Given the description of an element on the screen output the (x, y) to click on. 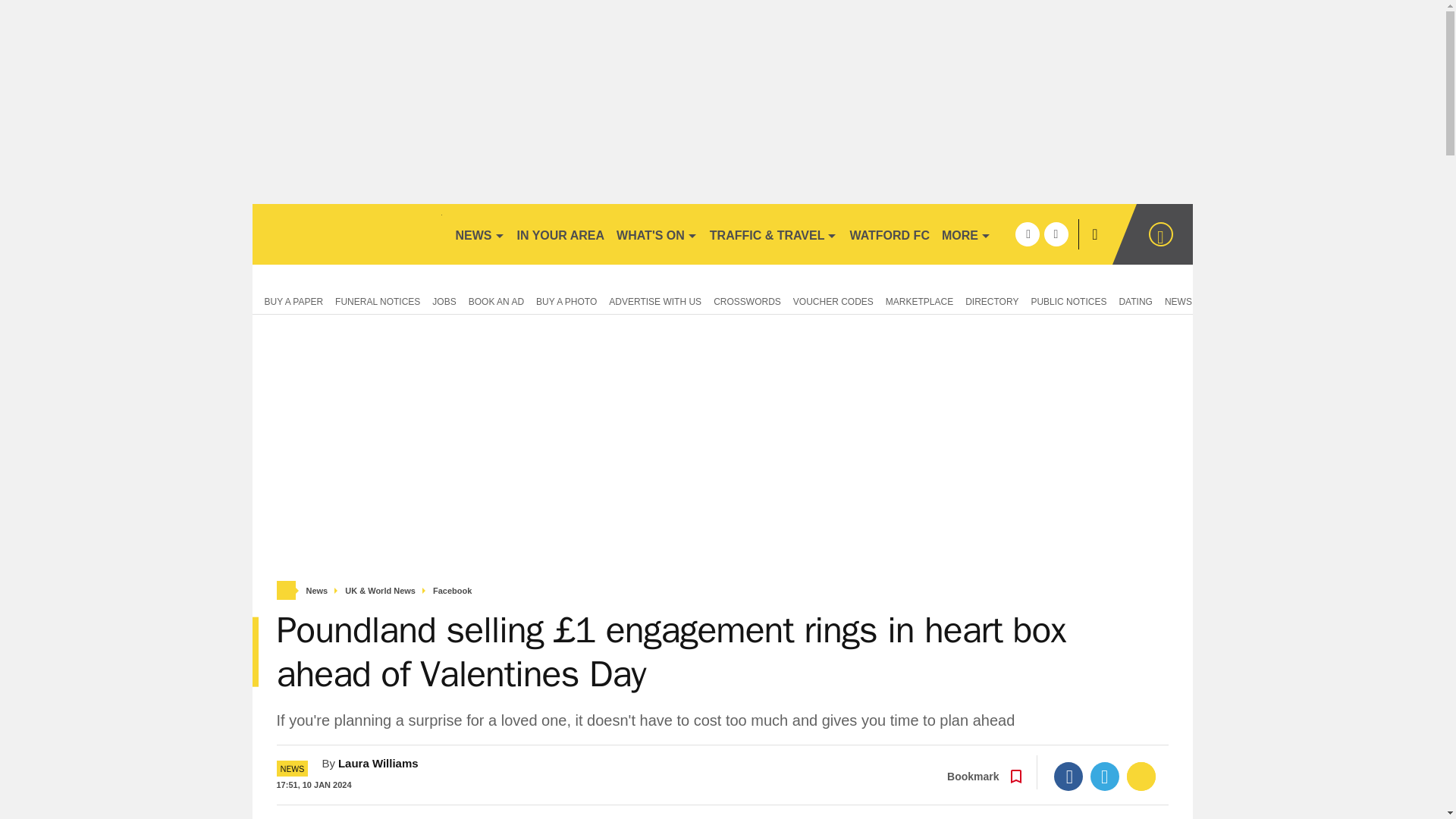
twitter (1055, 233)
hertfordshiremercury (346, 233)
Facebook (1068, 776)
MORE (966, 233)
NEWS (479, 233)
facebook (1026, 233)
IN YOUR AREA (561, 233)
WATFORD FC (888, 233)
WHAT'S ON (656, 233)
Twitter (1104, 776)
